Given the description of an element on the screen output the (x, y) to click on. 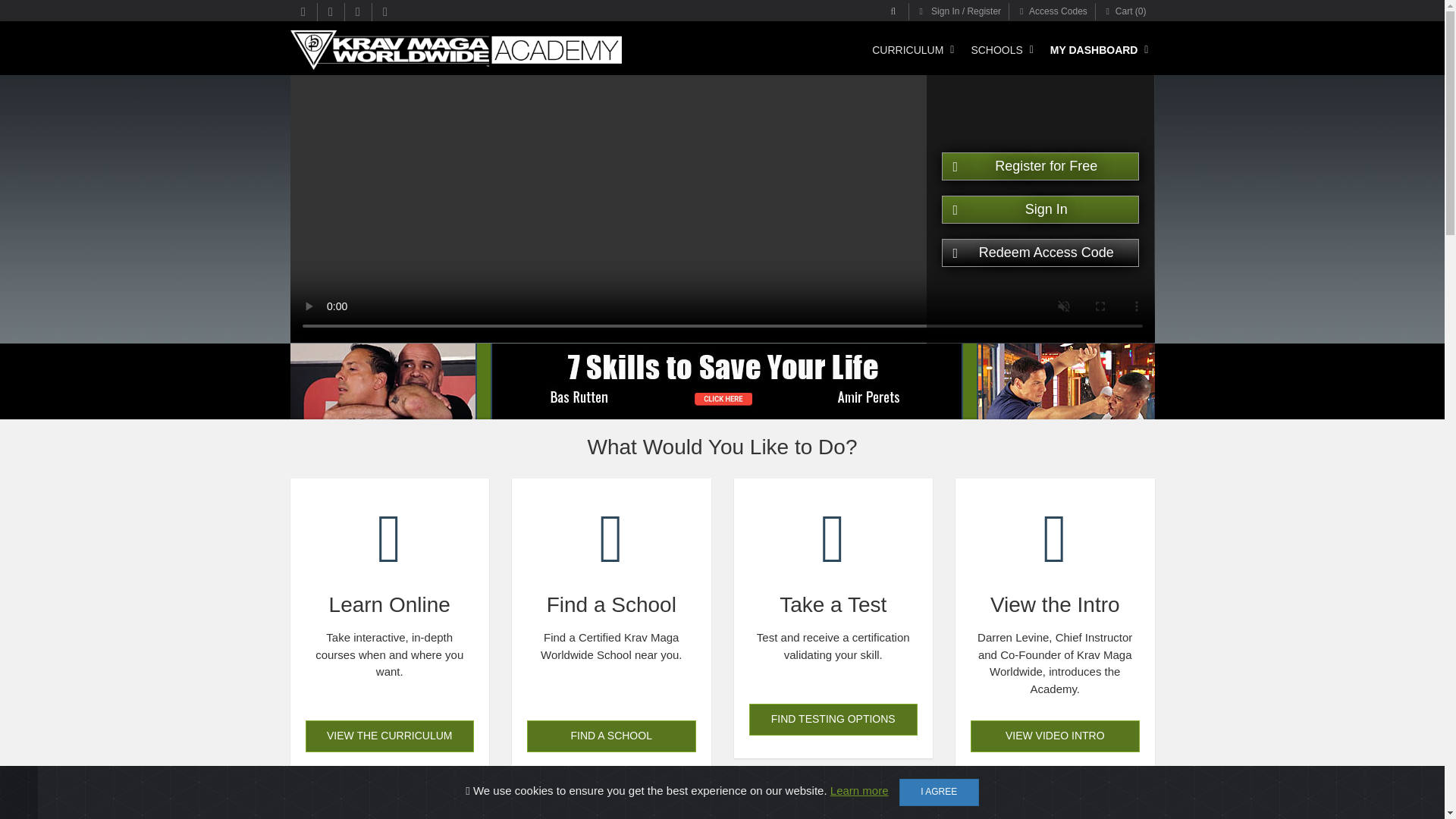
Access Codes (1052, 11)
CURRICULUM (909, 49)
SCHOOLS (998, 49)
MY DASHBOARD (1096, 49)
